Given the description of an element on the screen output the (x, y) to click on. 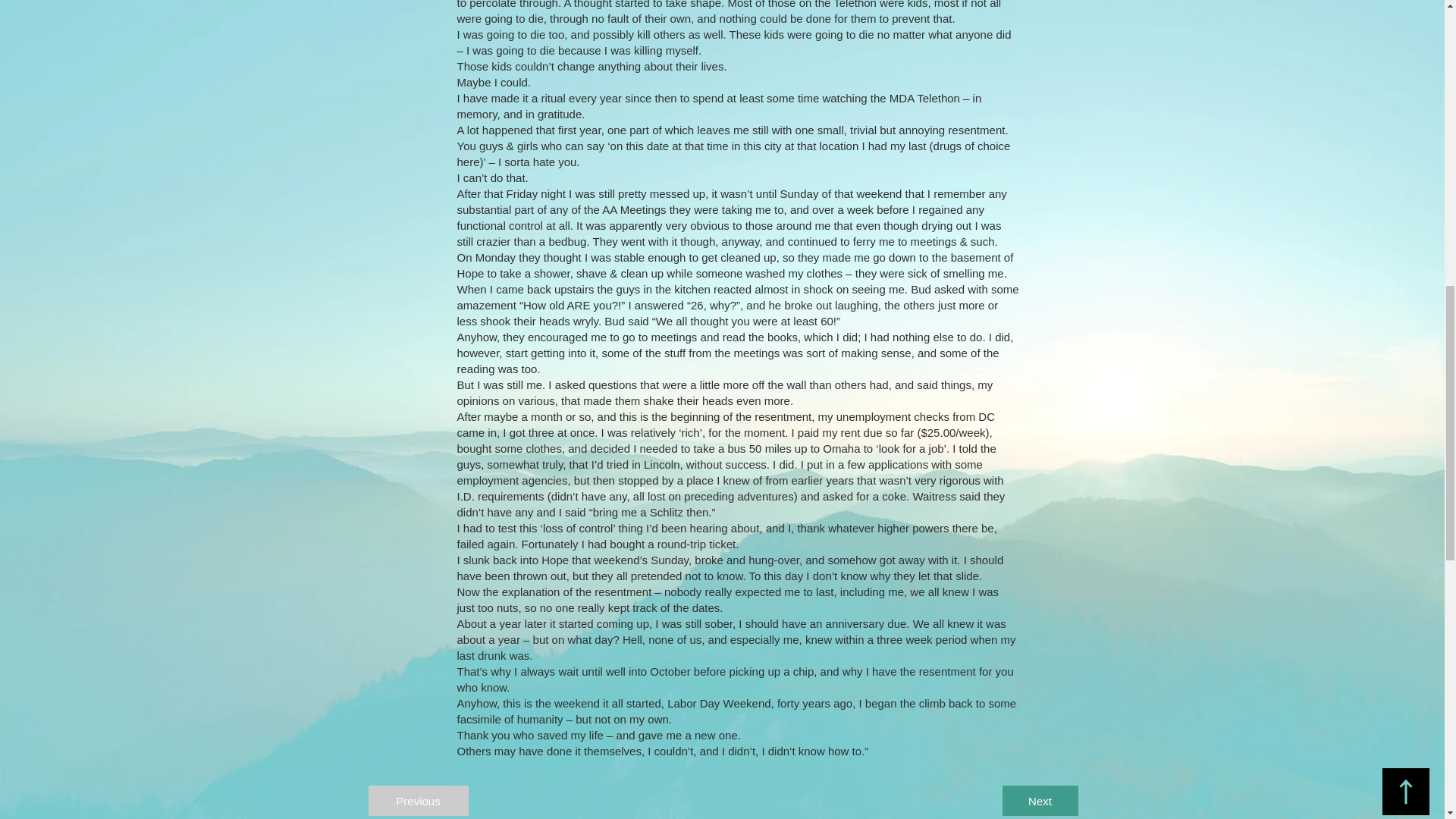
Previous (418, 800)
